Given the description of an element on the screen output the (x, y) to click on. 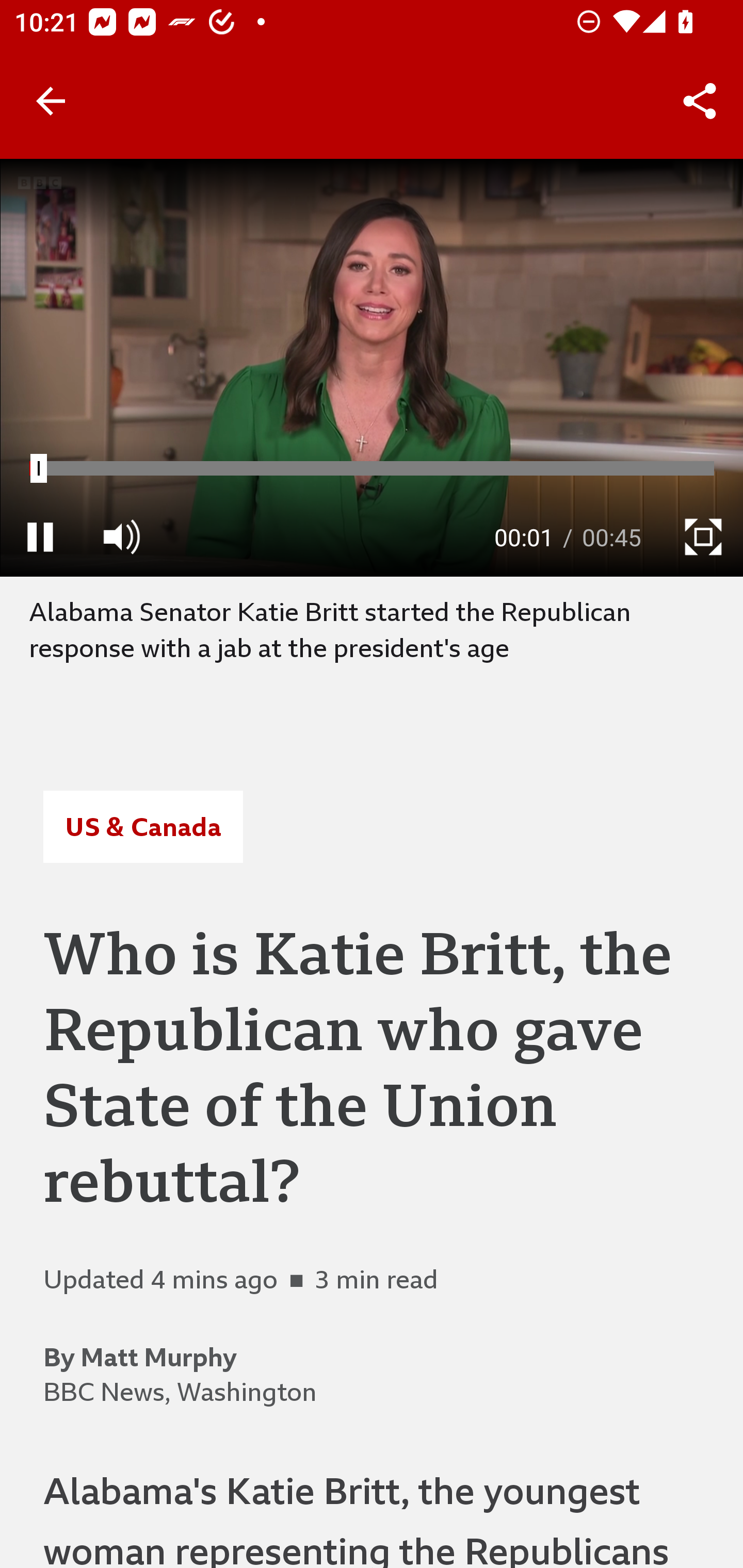
Back (50, 101)
Share (699, 101)
volume (121, 537)
enter fullscreen (703, 537)
US & Canada (142, 827)
